Given the description of an element on the screen output the (x, y) to click on. 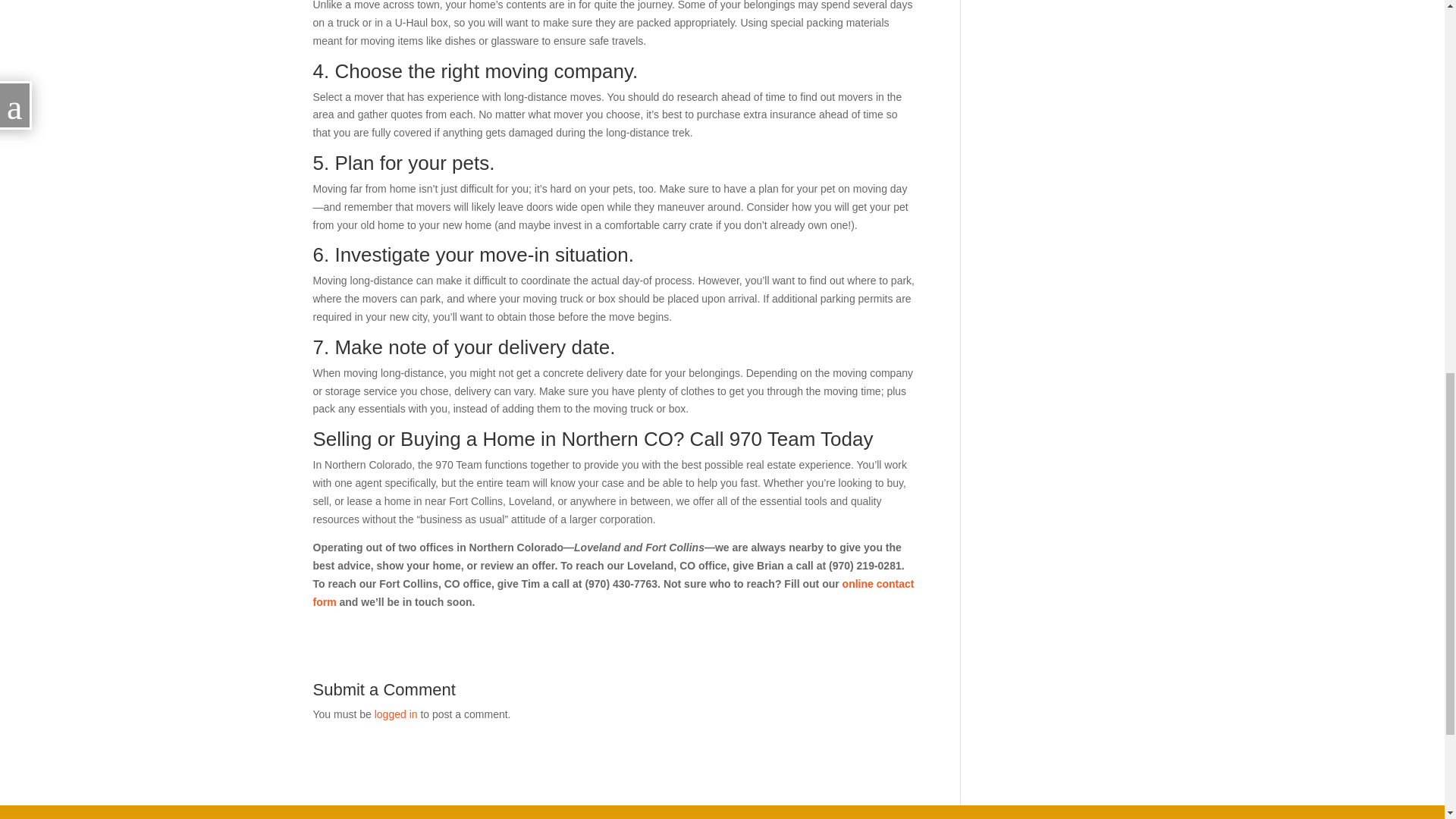
online contact form (613, 593)
logged in (395, 714)
